Given the description of an element on the screen output the (x, y) to click on. 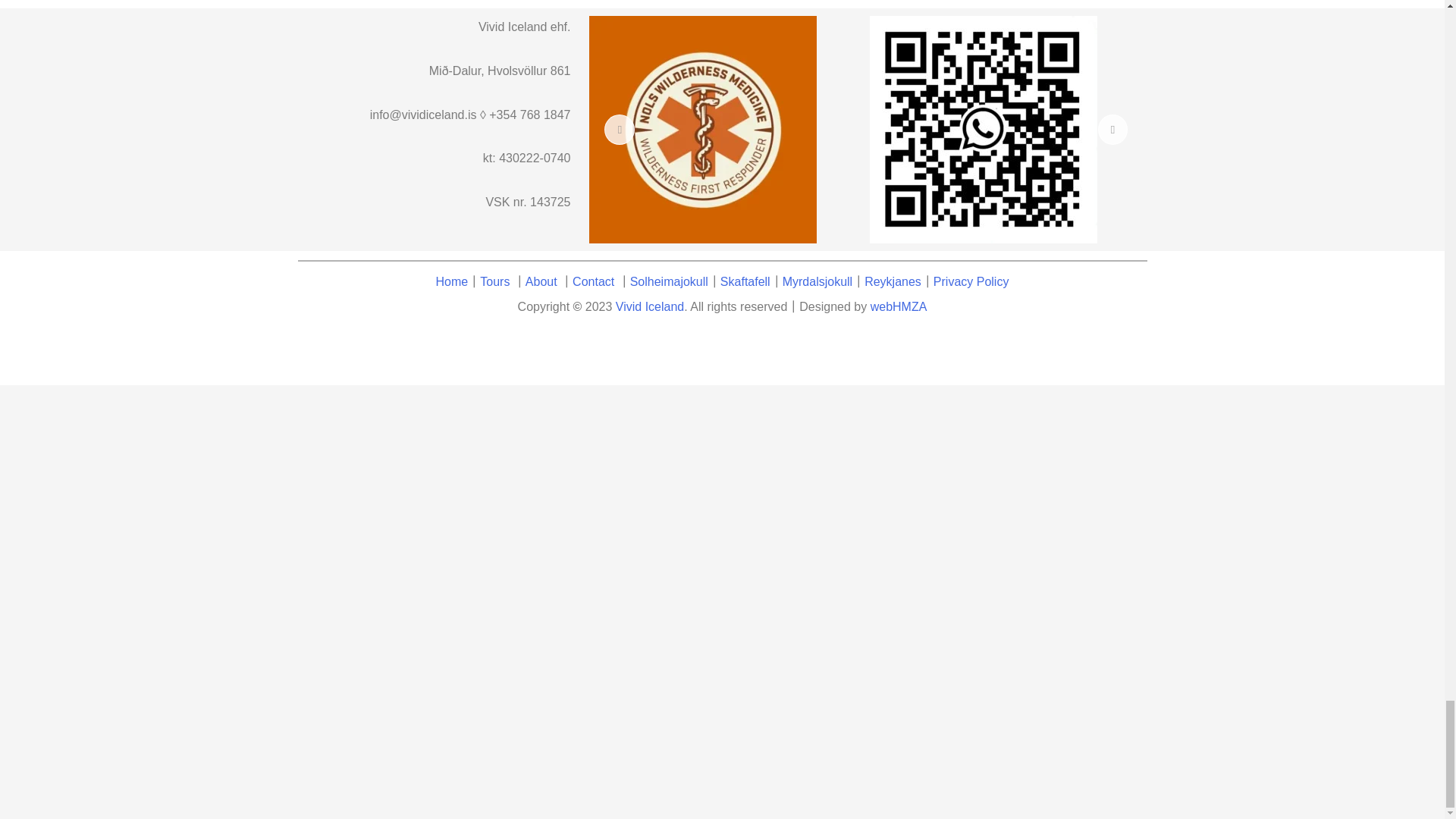
Home (451, 281)
About (541, 281)
Contact  (594, 281)
Tours (494, 281)
